Given the description of an element on the screen output the (x, y) to click on. 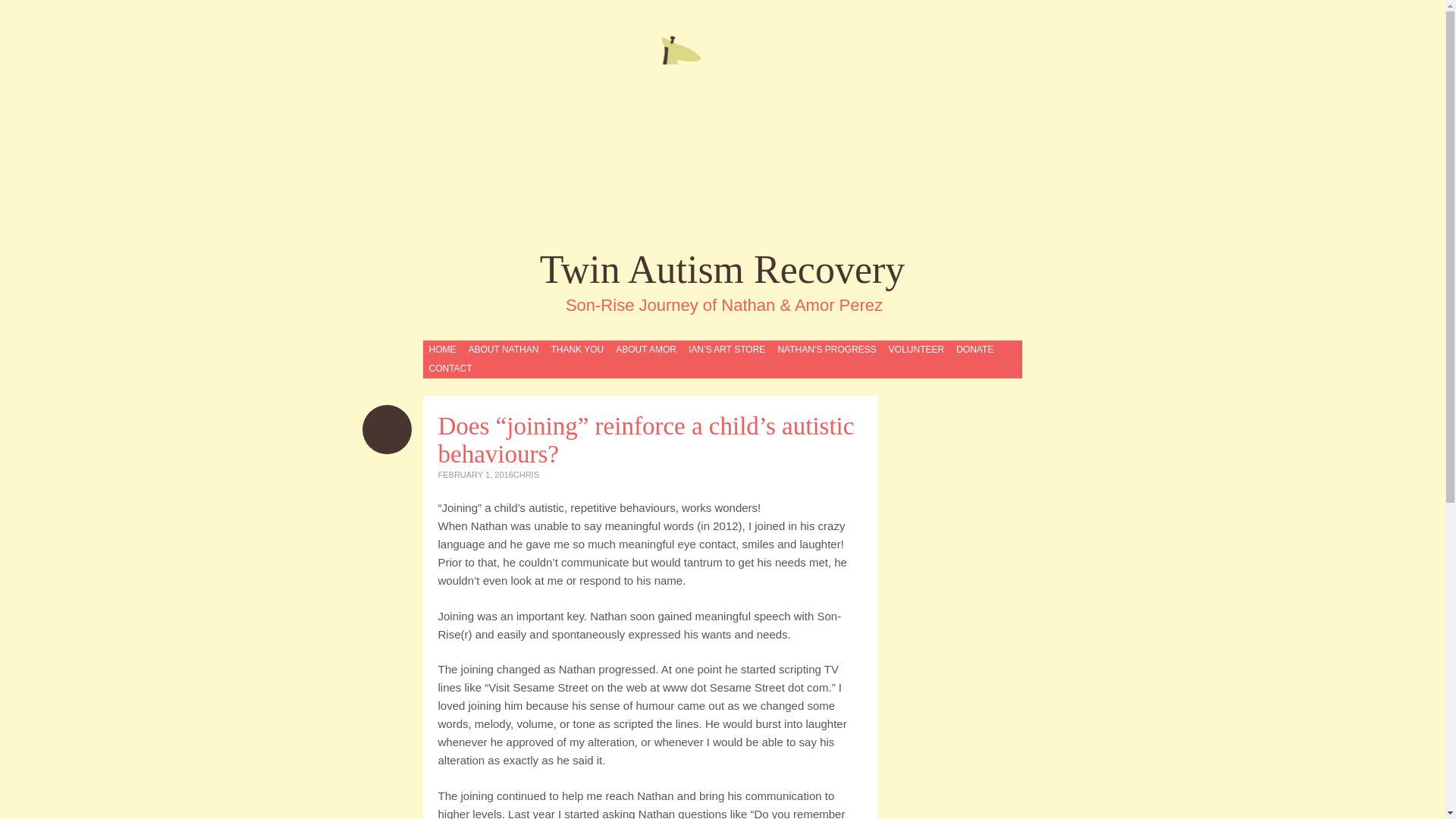
Twin Autism Recovery (722, 269)
2:46 am (475, 474)
Twin Autism Recovery (722, 132)
ABOUT AMOR (645, 349)
ABOUT NATHAN (502, 349)
FEBRUARY 1, 2016 (475, 474)
HOME (442, 349)
SKIP TO CONTENT (469, 349)
THANK YOU (577, 349)
Skip to content (469, 349)
VOLUNTEER (916, 349)
DONATE (974, 349)
View all posts by chris (525, 474)
CHRIS (525, 474)
CONTACT (450, 368)
